Given the description of an element on the screen output the (x, y) to click on. 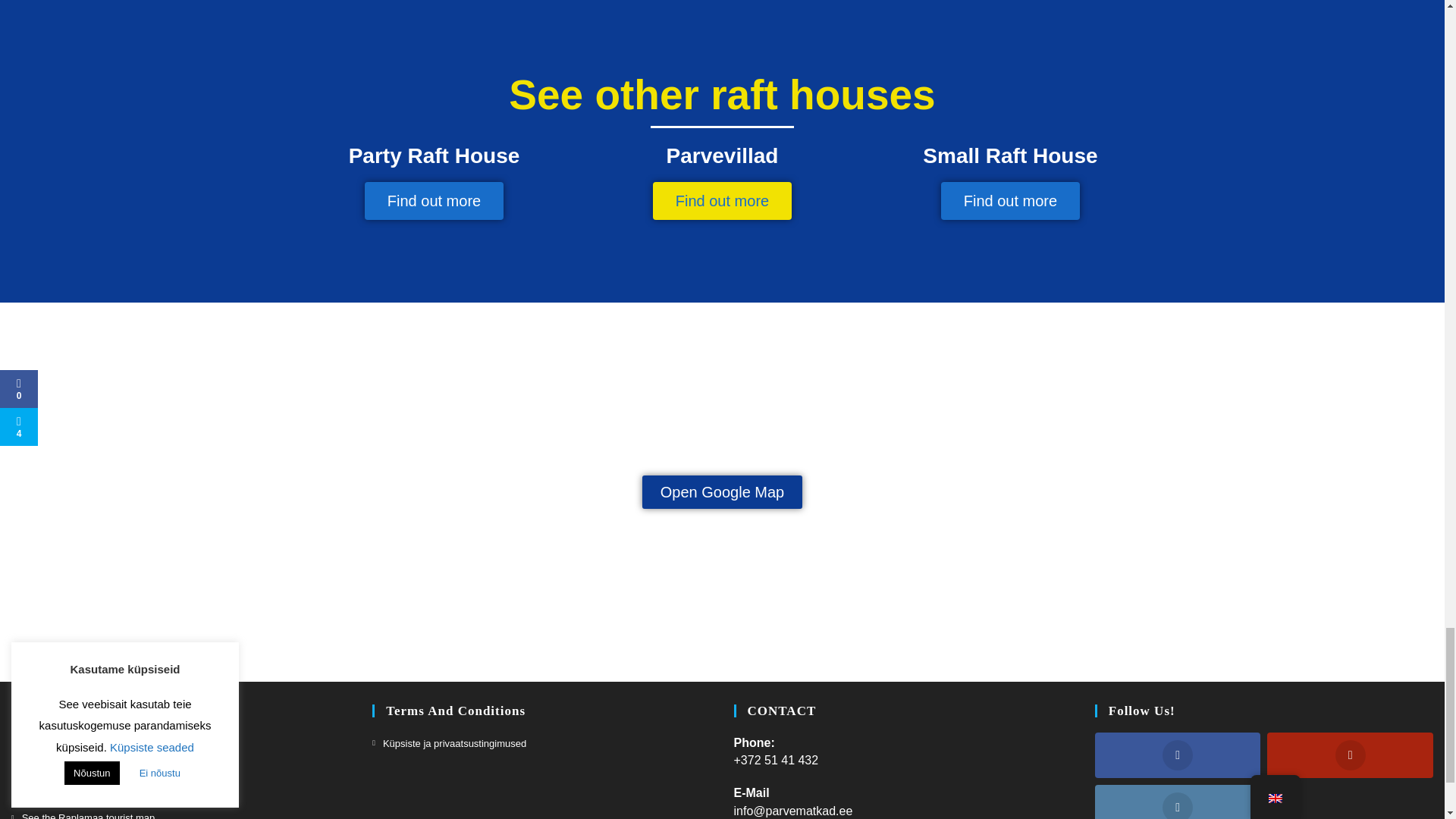
Open Google Map (722, 491)
Find out more (1010, 200)
Find out more (434, 200)
Ask for a personal offer (67, 743)
Find out more (722, 200)
